Given the description of an element on the screen output the (x, y) to click on. 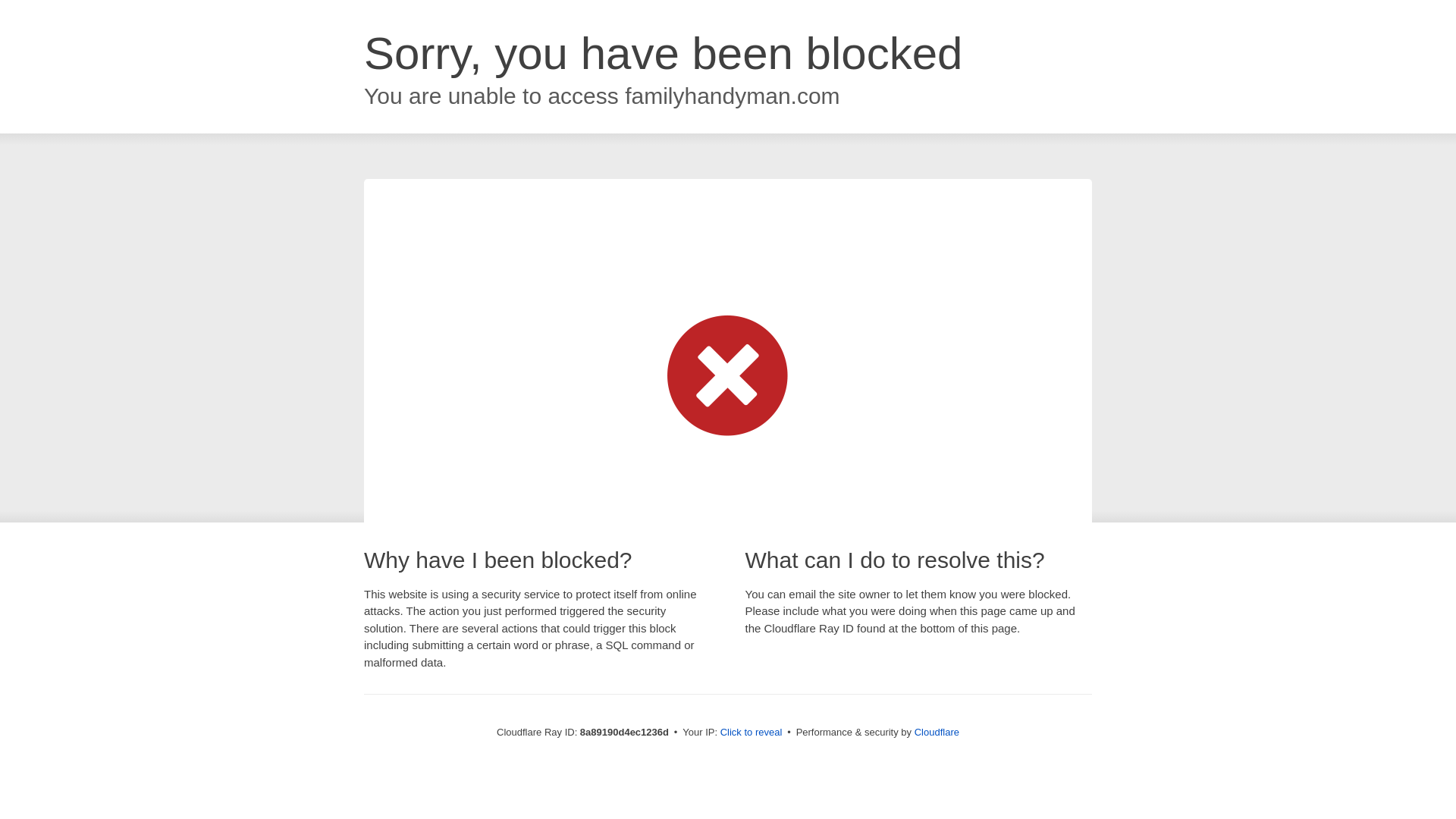
Cloudflare (936, 731)
Click to reveal (751, 732)
